Given the description of an element on the screen output the (x, y) to click on. 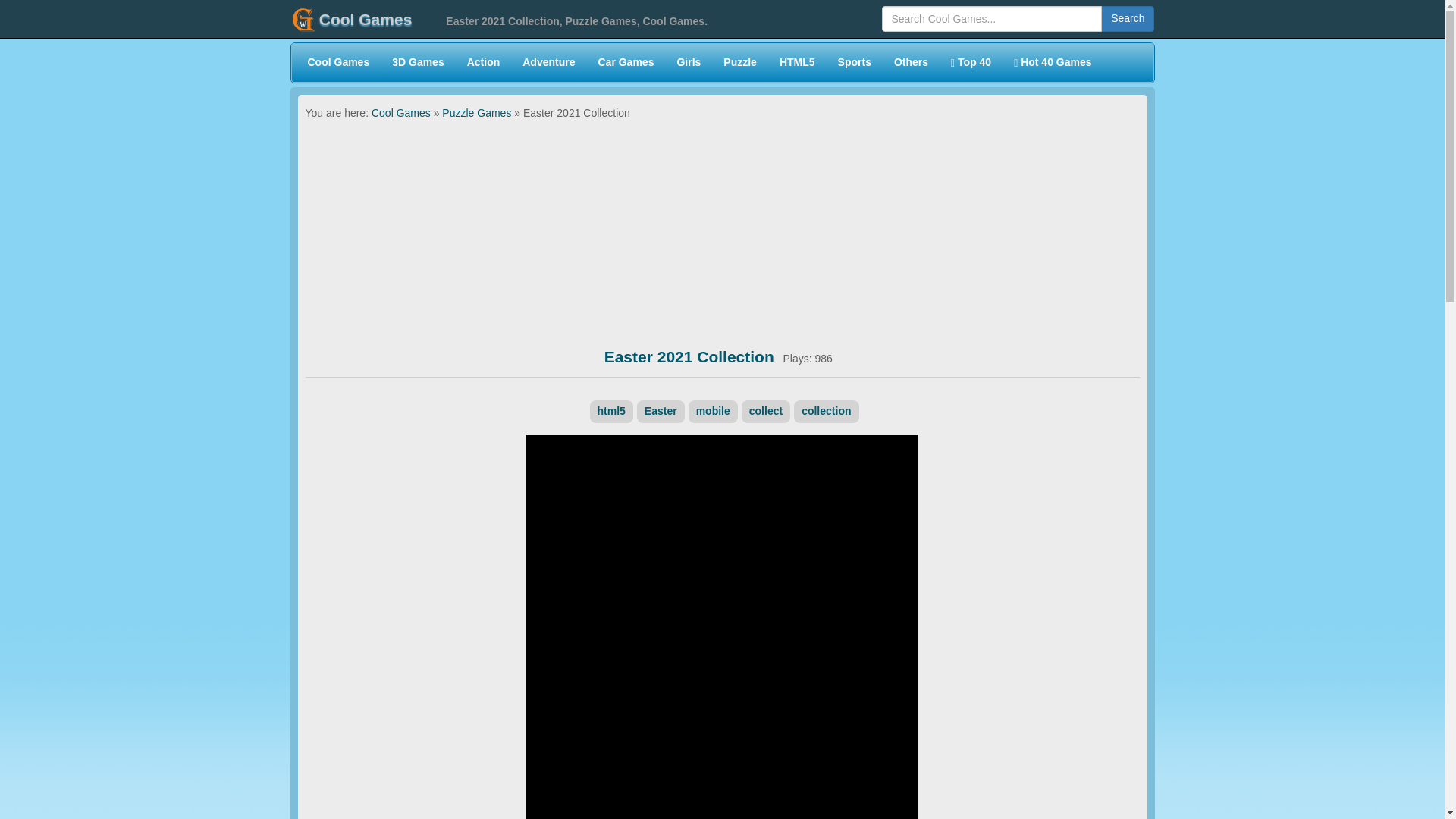
html5 (611, 410)
Adventure (548, 62)
Puzzle Games (476, 112)
Cool Games (351, 18)
Action Games (483, 62)
Sports Games (854, 62)
Car Games (625, 62)
Others Cool Games (910, 62)
Girls Games (688, 62)
 Hot 40 Games (1052, 62)
Cool Games (400, 112)
Puzzle Games (739, 62)
Cool Games (337, 62)
Cool Adventure Games (548, 62)
